Given the description of an element on the screen output the (x, y) to click on. 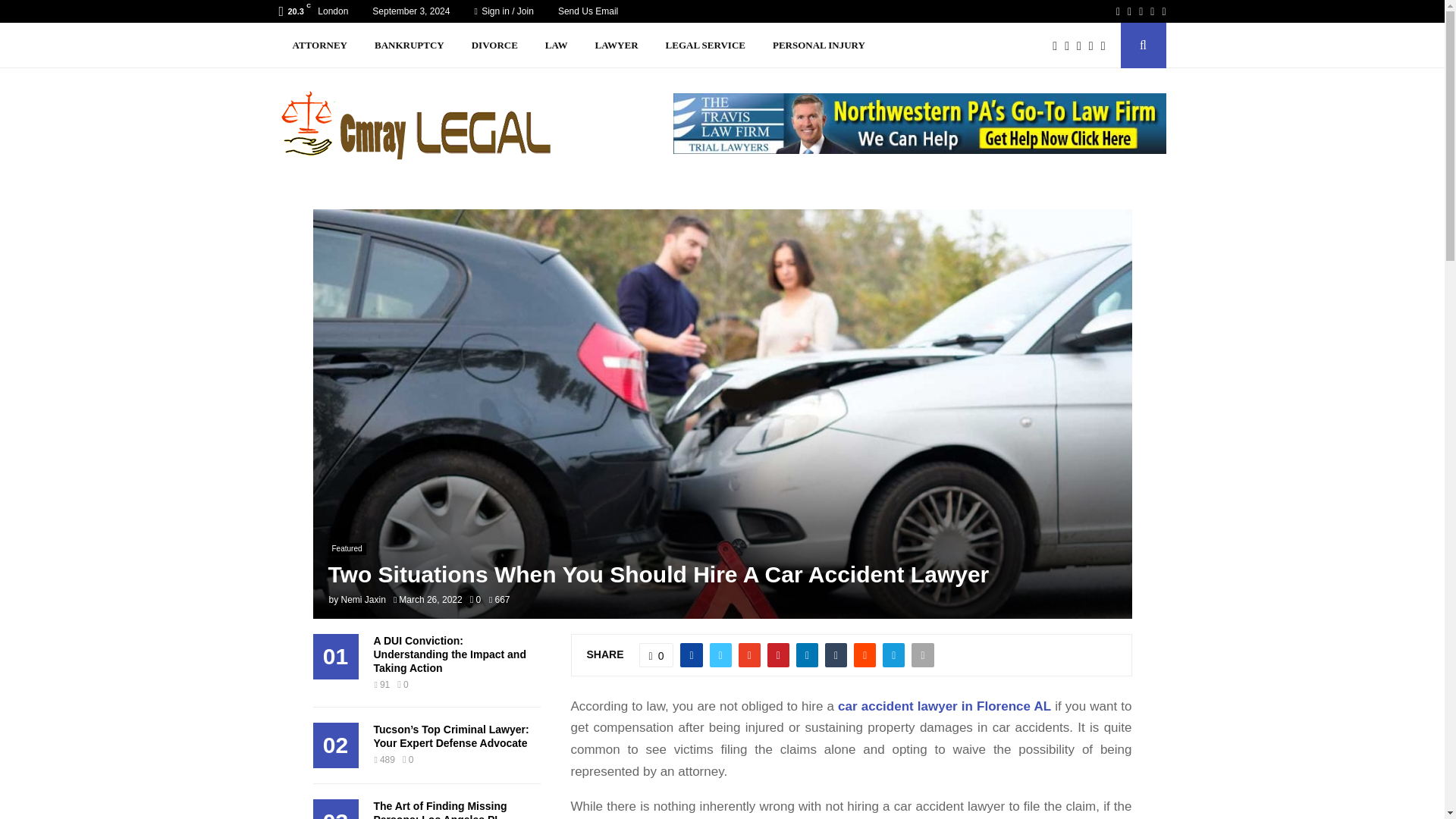
Login to your account (722, 293)
BANKRUPTCY (409, 44)
LEGAL SERVICE (705, 44)
ATTORNEY (320, 44)
DIVORCE (494, 44)
0 (475, 599)
Nemi Jaxin (362, 599)
PERSONAL INJURY (818, 44)
Featured (346, 548)
Send Us Email (587, 11)
